Given the description of an element on the screen output the (x, y) to click on. 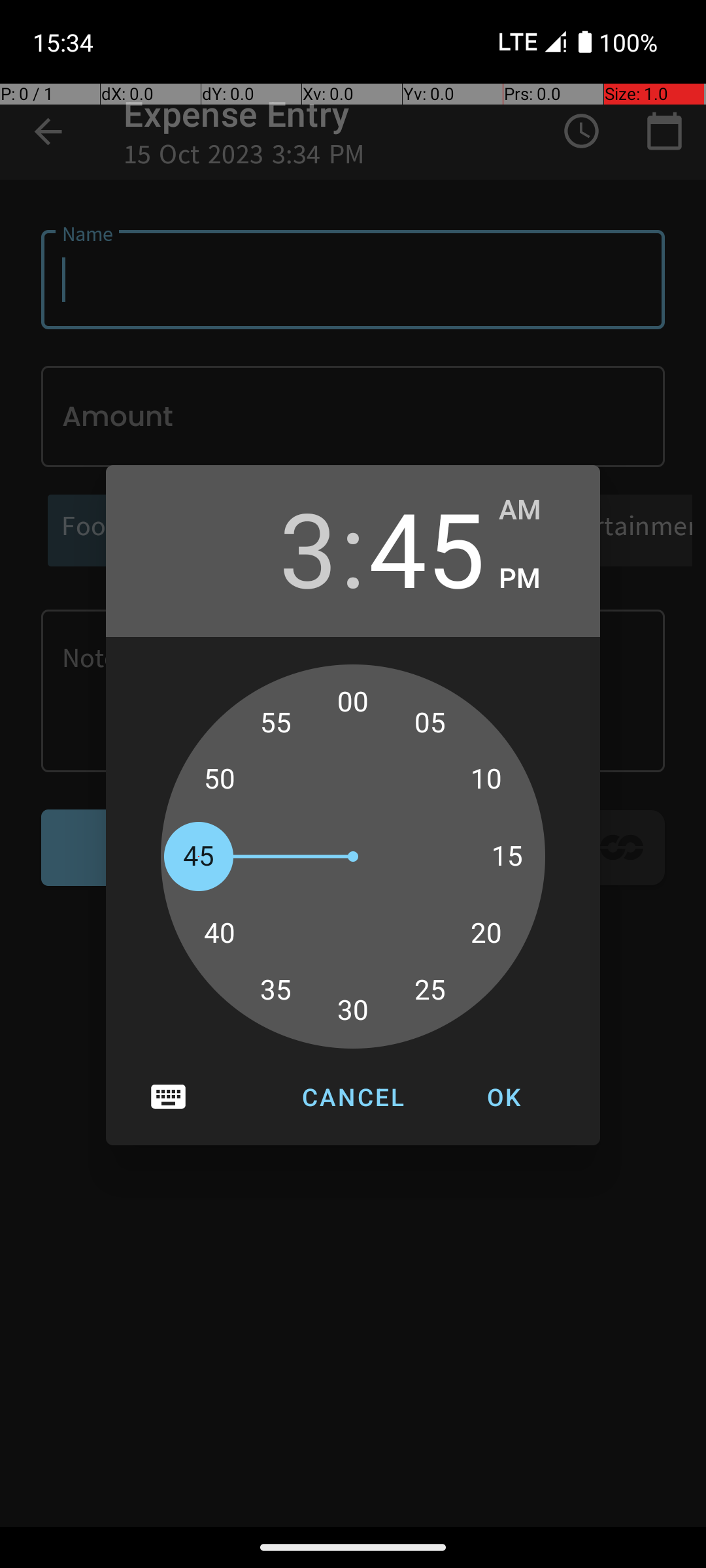
34 Element type: android.widget.RadialTimePickerView$RadialPickerTouchHelper (289, 996)
